Given the description of an element on the screen output the (x, y) to click on. 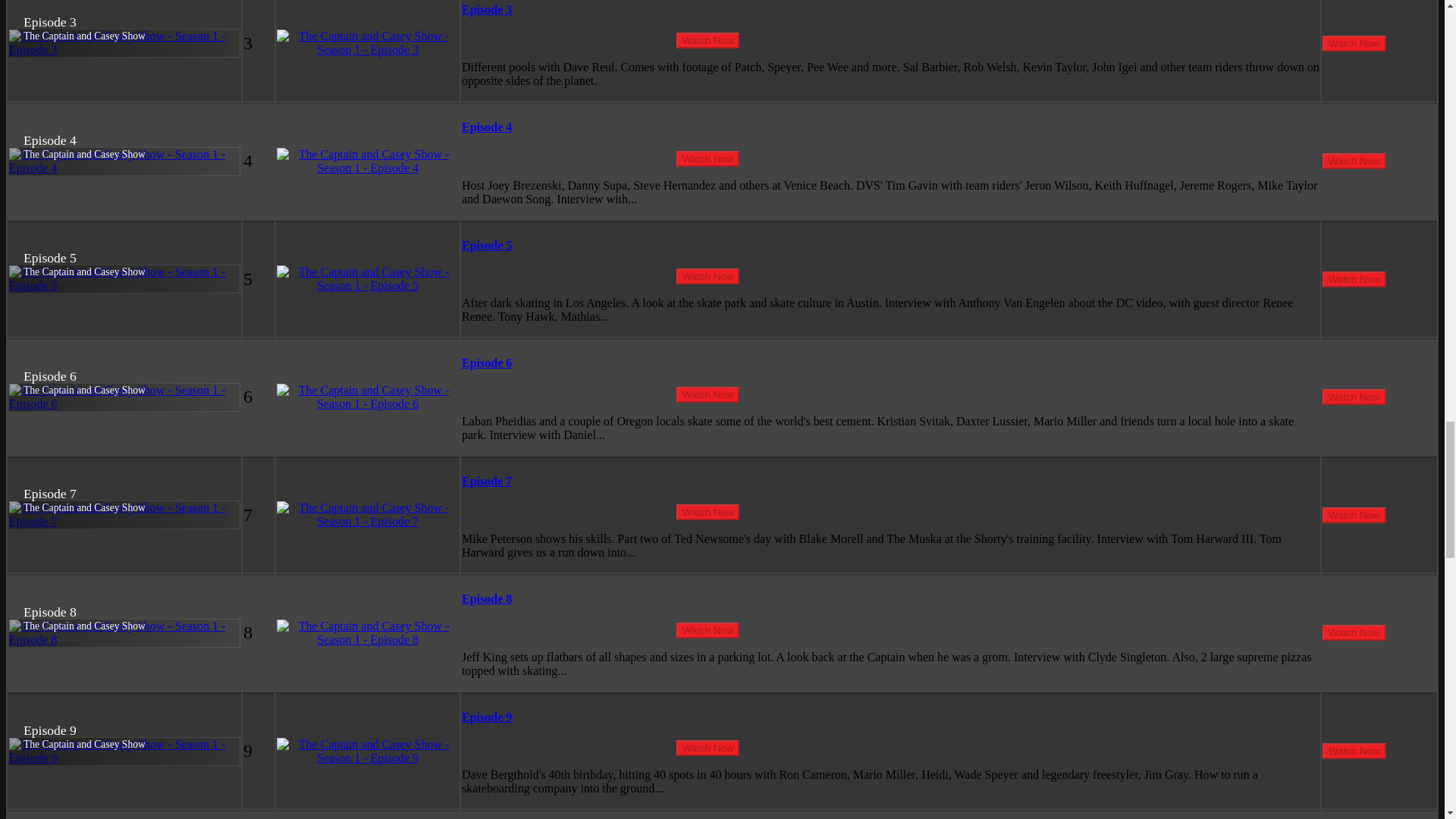
Episode 9 (486, 716)
Episode 7 (486, 481)
Episode 3 (486, 9)
Episode 5 (486, 245)
Episode 8 (486, 598)
Episode 6 (486, 362)
Episode 4 (486, 126)
